Given the description of an element on the screen output the (x, y) to click on. 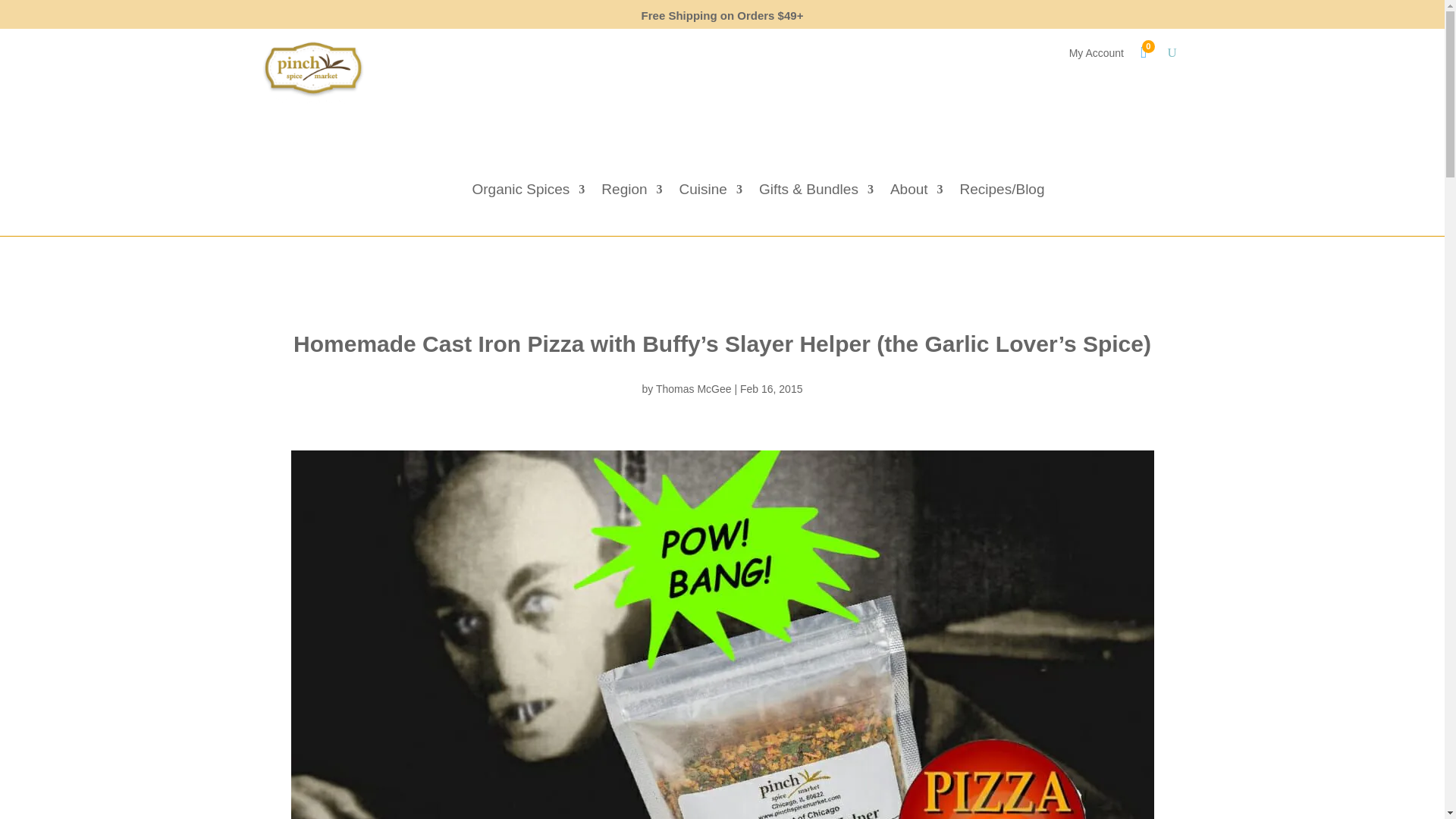
Cuisine (710, 192)
Region (631, 192)
Pinch spices logo for Head (312, 72)
Organic Spices (528, 192)
My Account (1096, 55)
